Given the description of an element on the screen output the (x, y) to click on. 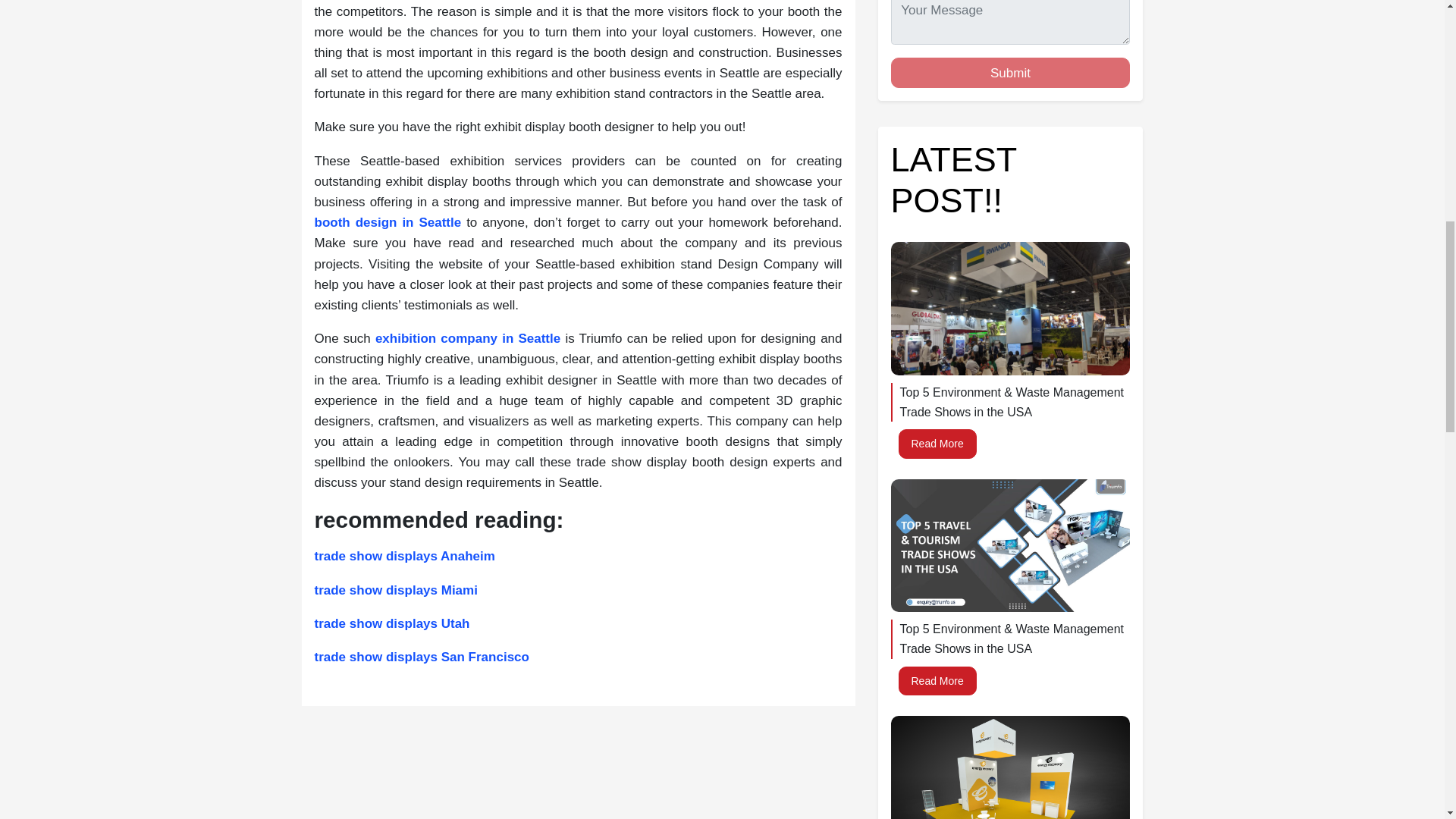
trade show displays San Francisco (421, 657)
Read More (936, 680)
exhibition company in Seattle (467, 338)
Read More (936, 443)
Submit (1009, 72)
trade show displays Utah (391, 623)
booth design in Seattle (387, 222)
trade show displays Anaheim (404, 555)
trade show displays Miami (395, 590)
Submit (1009, 72)
